Given the description of an element on the screen output the (x, y) to click on. 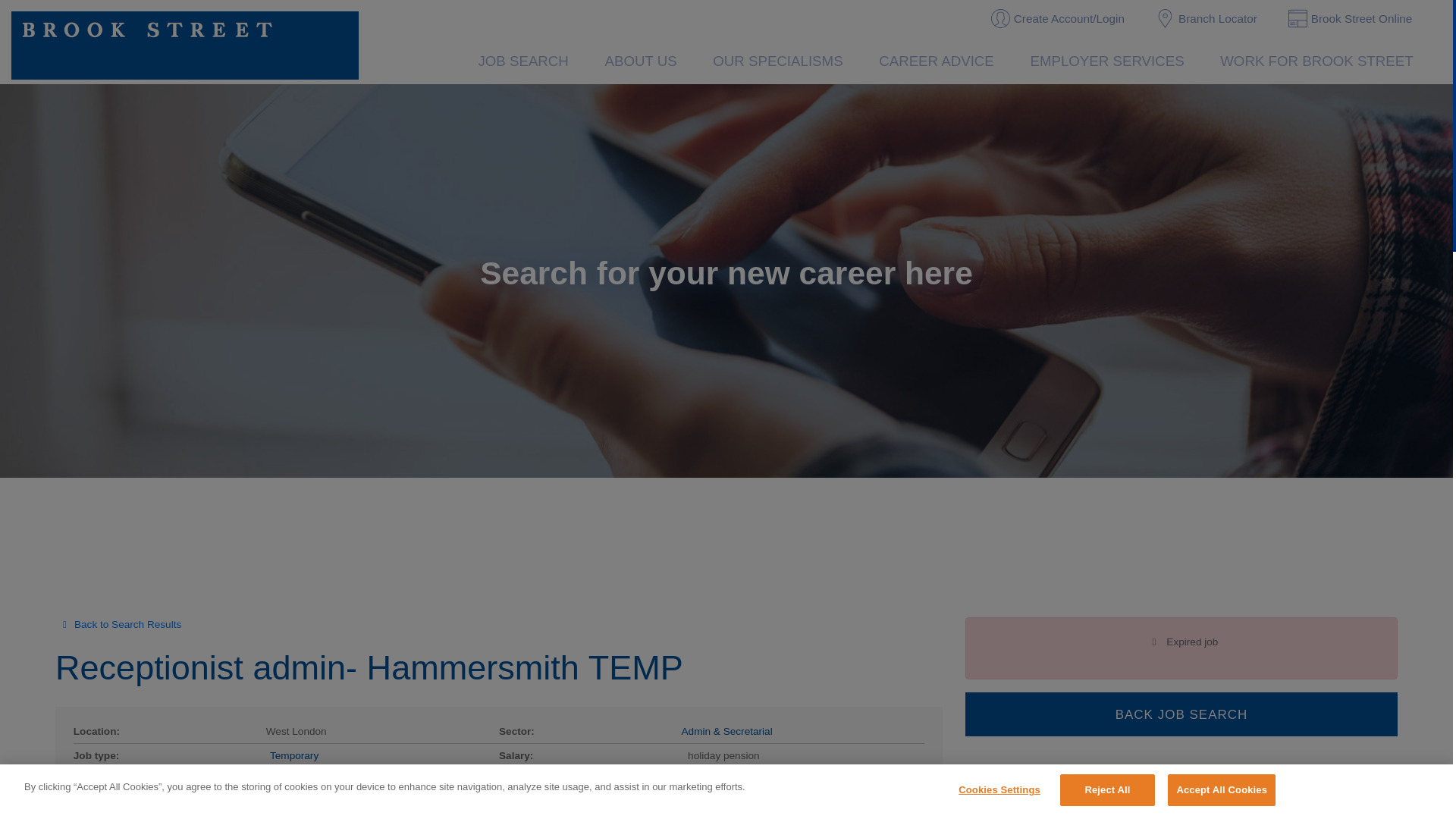
OUR SPECIALISMS (777, 62)
Brook Street Online (1350, 20)
Temporary (293, 755)
Branch Locator (1206, 20)
CAREER ADVICE (935, 62)
Back to Search Results (498, 624)
WORK FOR BROOK STREET (1316, 62)
EMPLOYER SERVICES (1106, 62)
Brook Street (184, 45)
ABOUT US (640, 62)
JOB SEARCH (523, 62)
BACK JOB SEARCH (1181, 714)
